Given the description of an element on the screen output the (x, y) to click on. 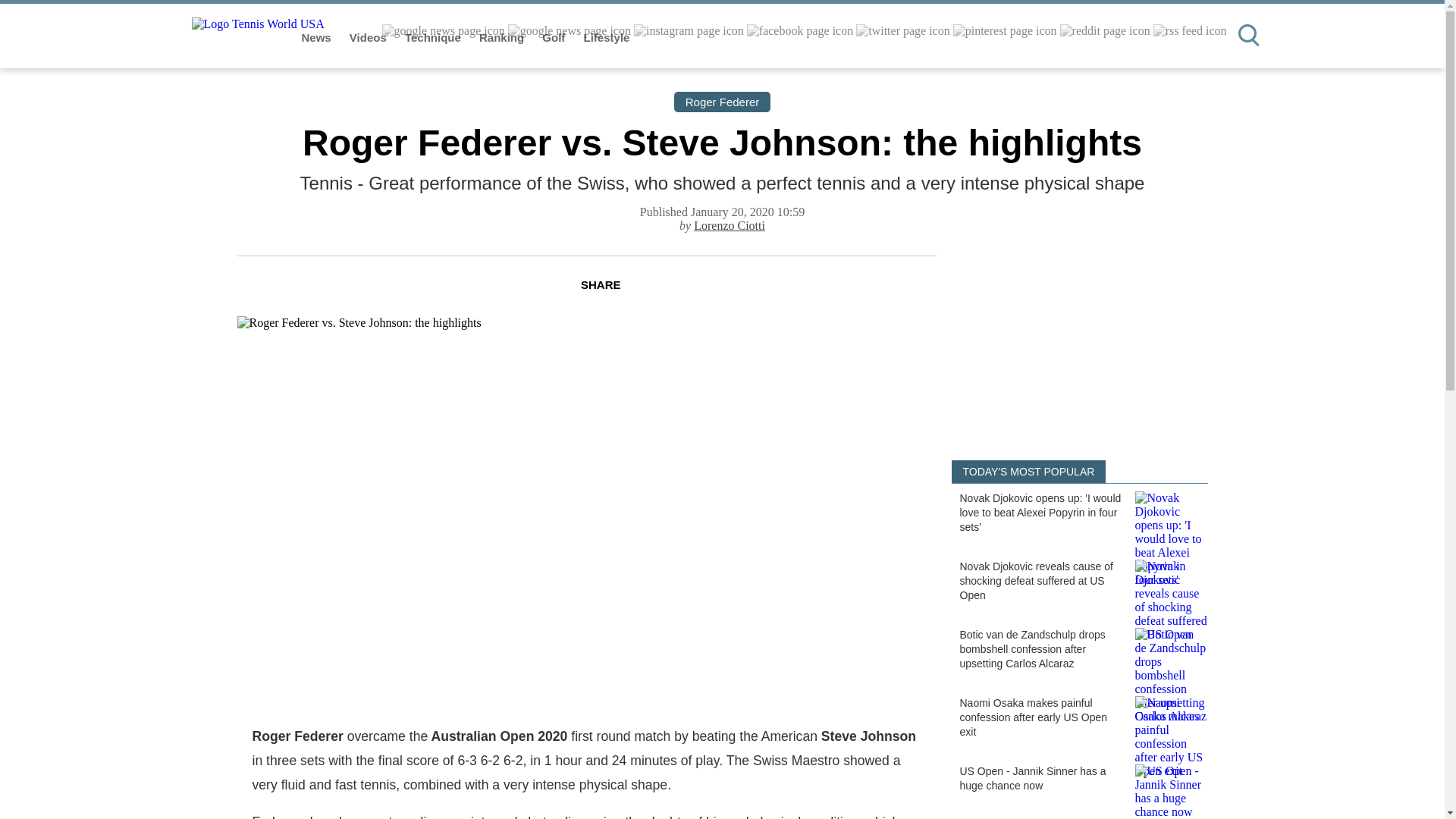
Golf (554, 37)
News (317, 37)
Ranking (503, 37)
Videos (369, 37)
Lifestyle (606, 37)
Technique (434, 37)
